Given the description of an element on the screen output the (x, y) to click on. 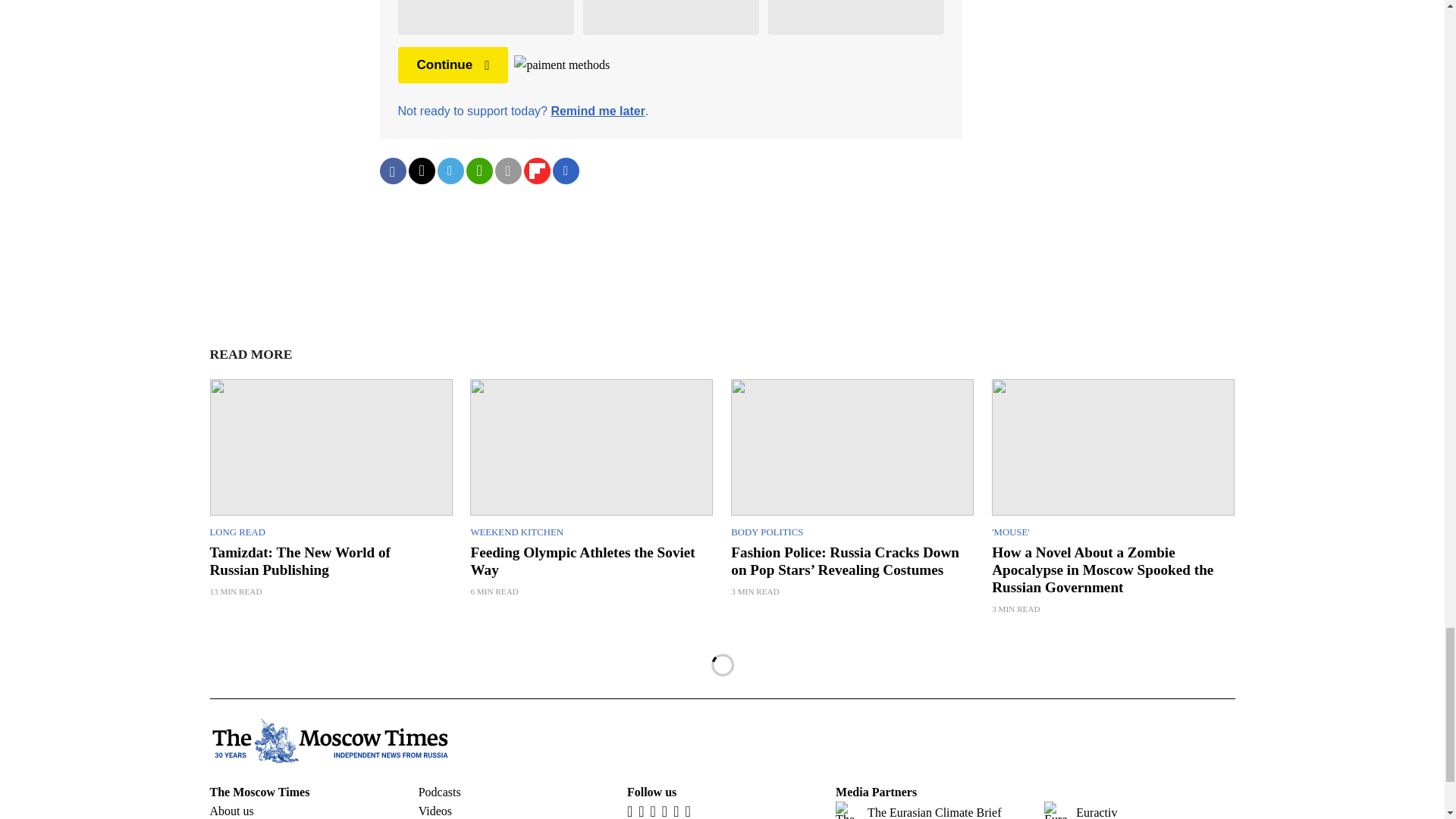
Share on Flipboard (536, 171)
Share on Telegram (449, 171)
Share on Facebook (392, 171)
Share on Twitter (420, 171)
